Given the description of an element on the screen output the (x, y) to click on. 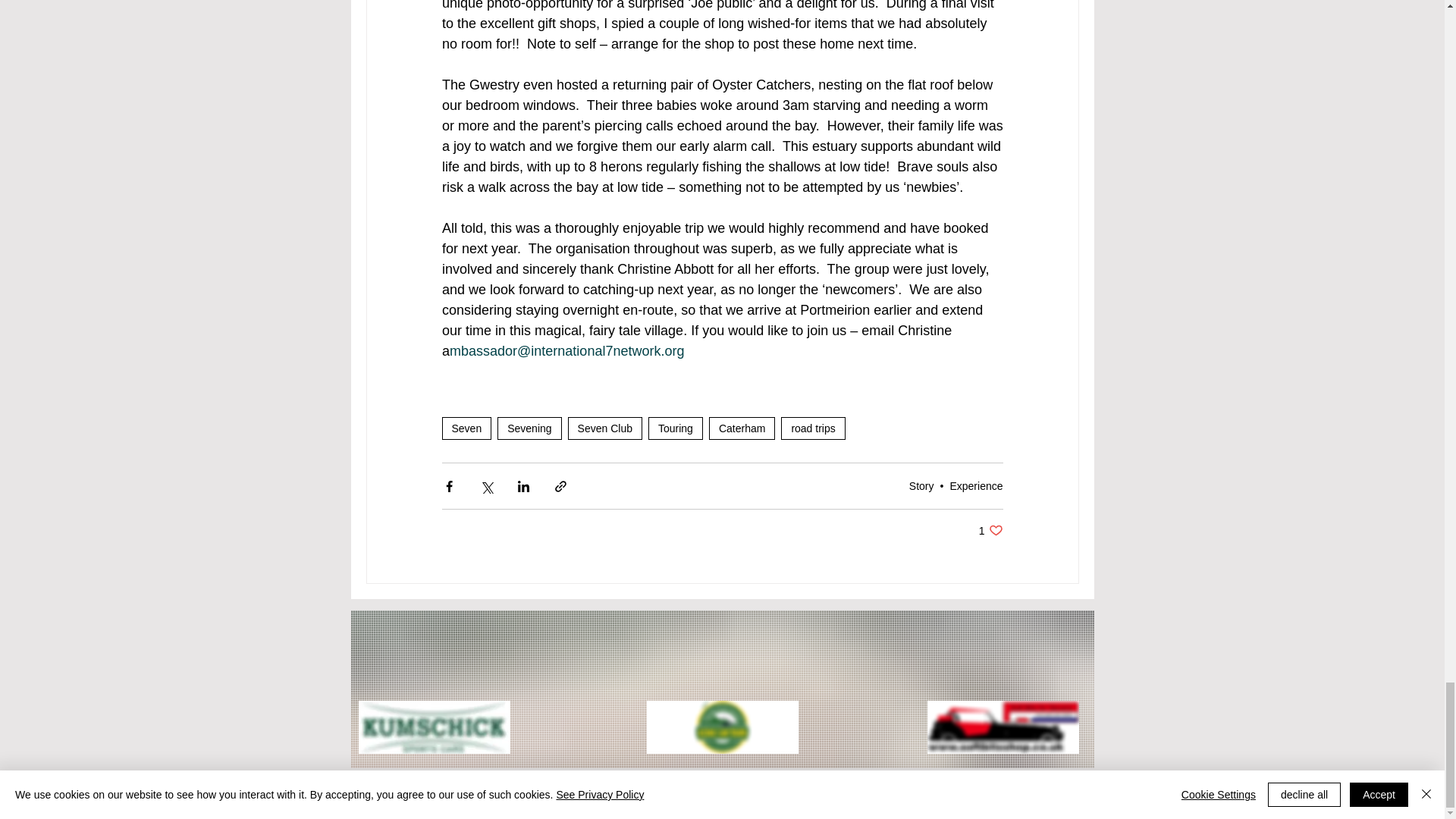
Touring (675, 427)
road trips (812, 427)
Sevening (528, 427)
Seven (466, 427)
Caterham (741, 427)
Seven Club (604, 427)
